Given the description of an element on the screen output the (x, y) to click on. 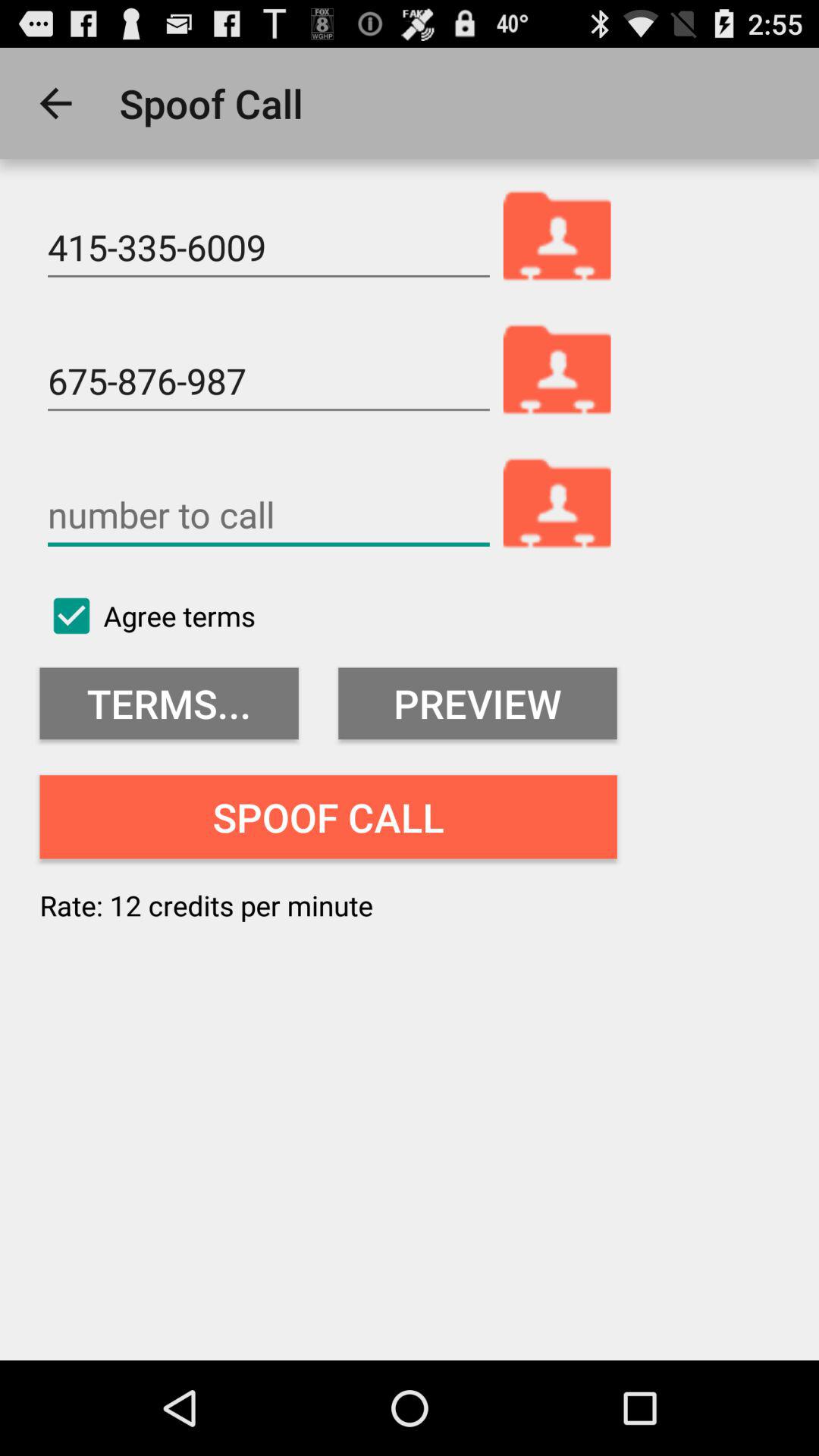
press the app next to spoof call icon (55, 103)
